Given the description of an element on the screen output the (x, y) to click on. 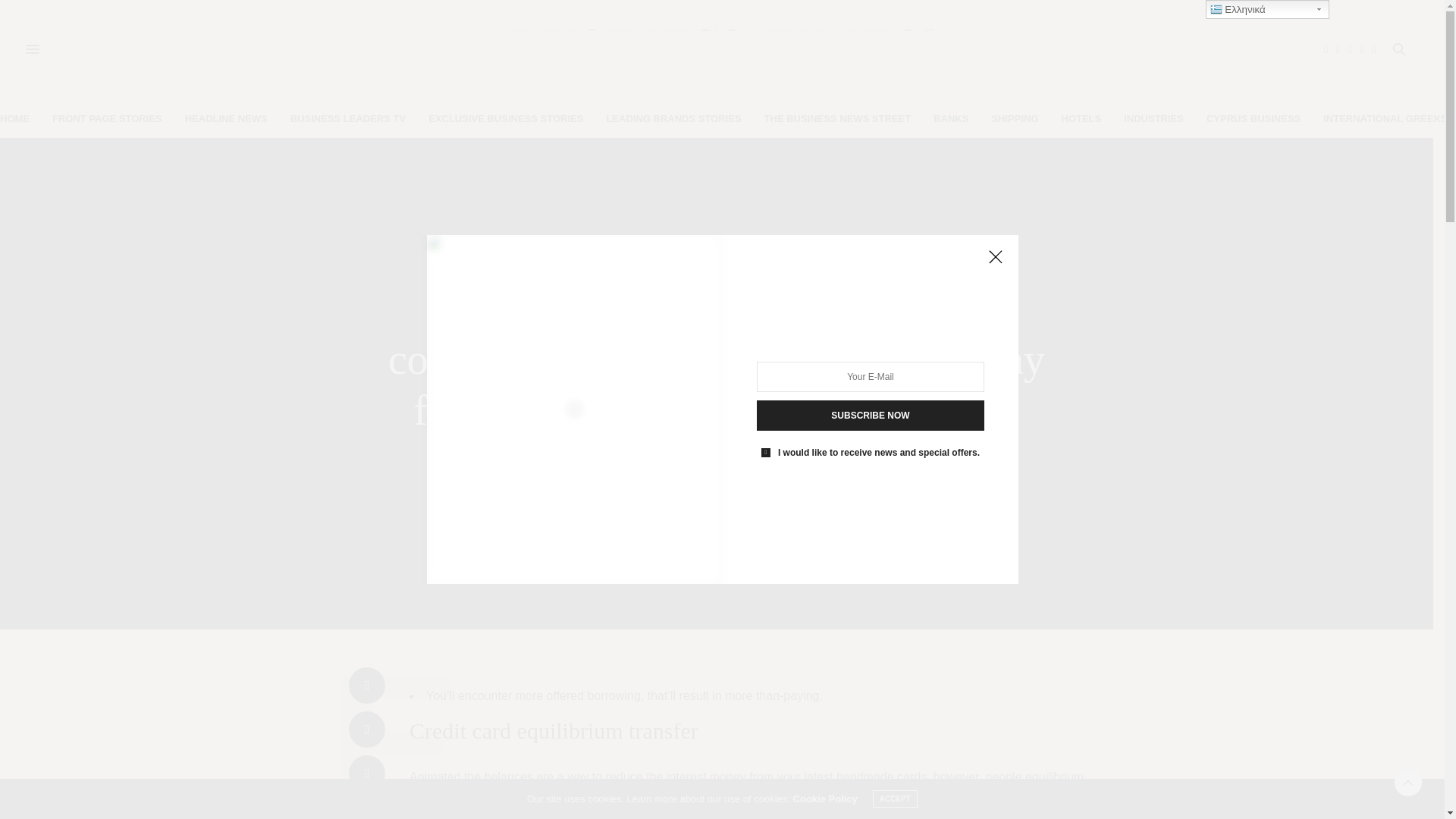
LEADING BRANDS STORIES (673, 118)
HOTELS (1081, 118)
BUSINESS LEADERS TV (347, 118)
CYPRUS BUSINESS (1253, 118)
Scroll To Top (1408, 782)
FRONT PAGE STORIES (106, 118)
Hellenic Business Times (716, 49)
SHIPPING (1014, 118)
SUBSCRIBE NOW (870, 415)
EXCLUSIVE BUSINESS STORIES (505, 118)
THE BUSINESS NEWS STREET (837, 118)
BANKS (950, 118)
HEADLINE NEWS (225, 118)
Posts by Tatiana Ioannou (722, 508)
INDUSTRIES (1153, 118)
